Given the description of an element on the screen output the (x, y) to click on. 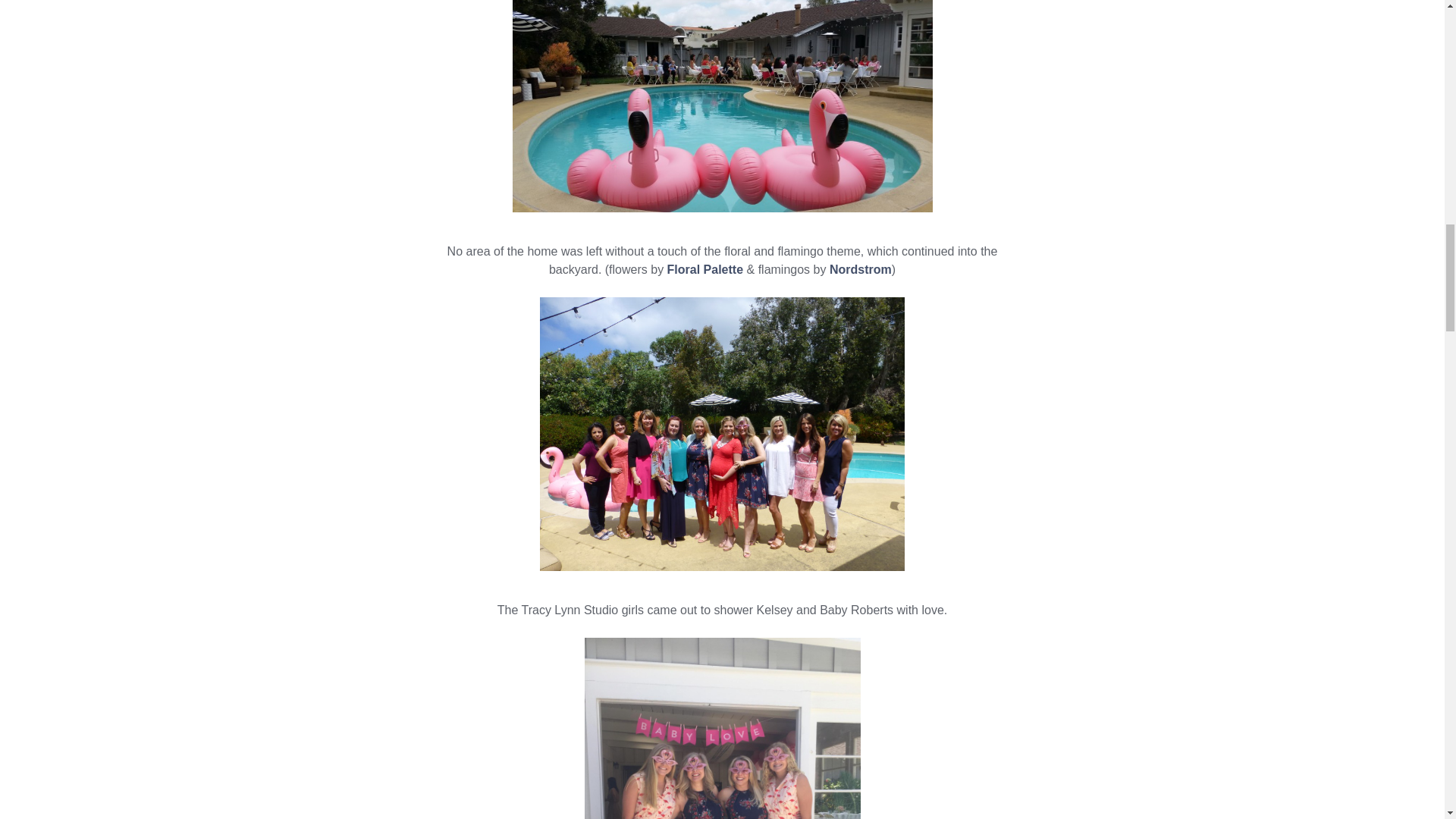
Floral Palette (704, 269)
Nordstrom (860, 269)
